Given the description of an element on the screen output the (x, y) to click on. 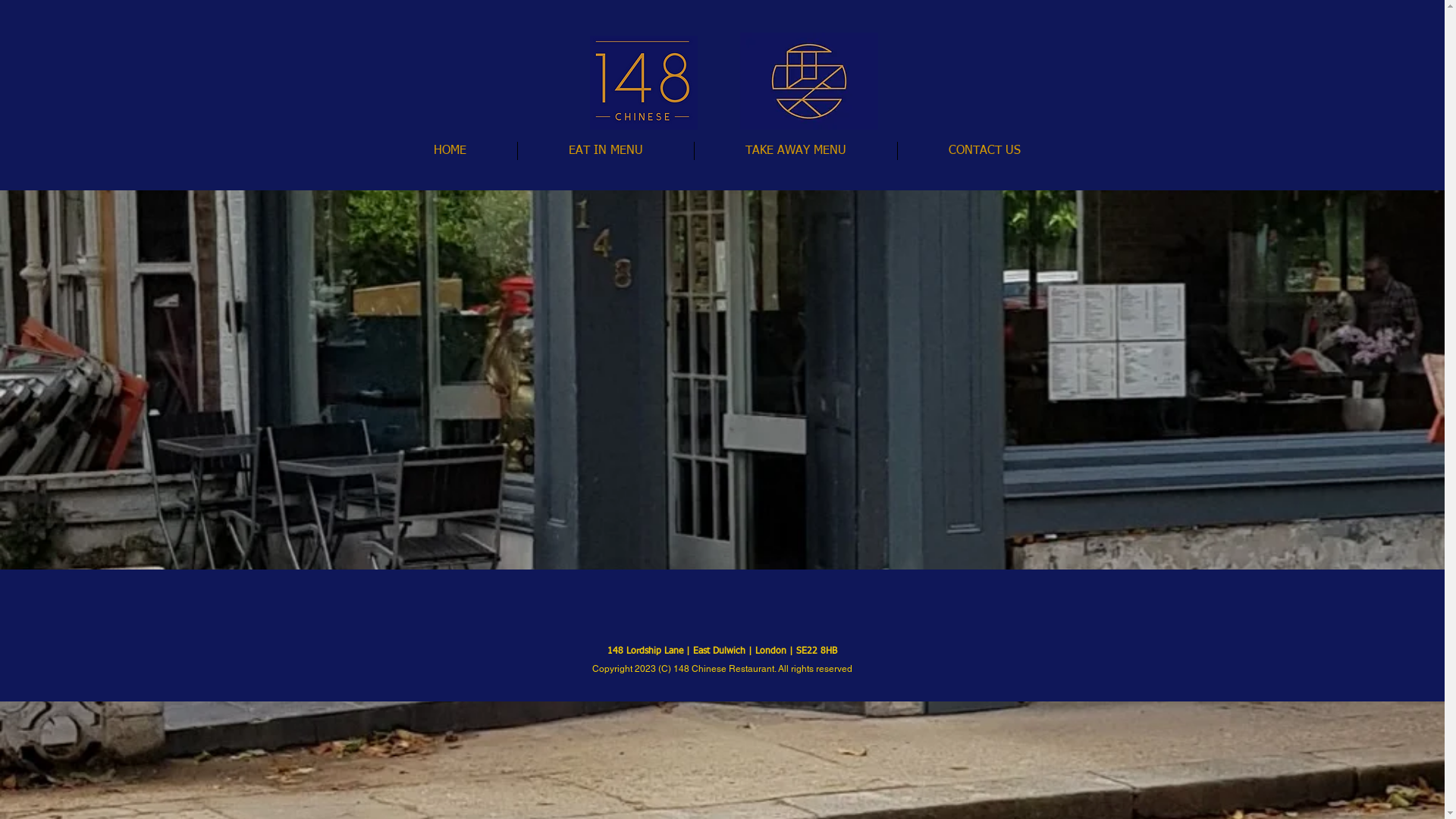
Restaurant Social Bar Element type: hover (722, 612)
TAKE AWAY MENU Element type: text (795, 150)
HOME Element type: text (449, 150)
CONTACT US Element type: text (984, 150)
EAT IN MENU Element type: text (605, 150)
